Given the description of an element on the screen output the (x, y) to click on. 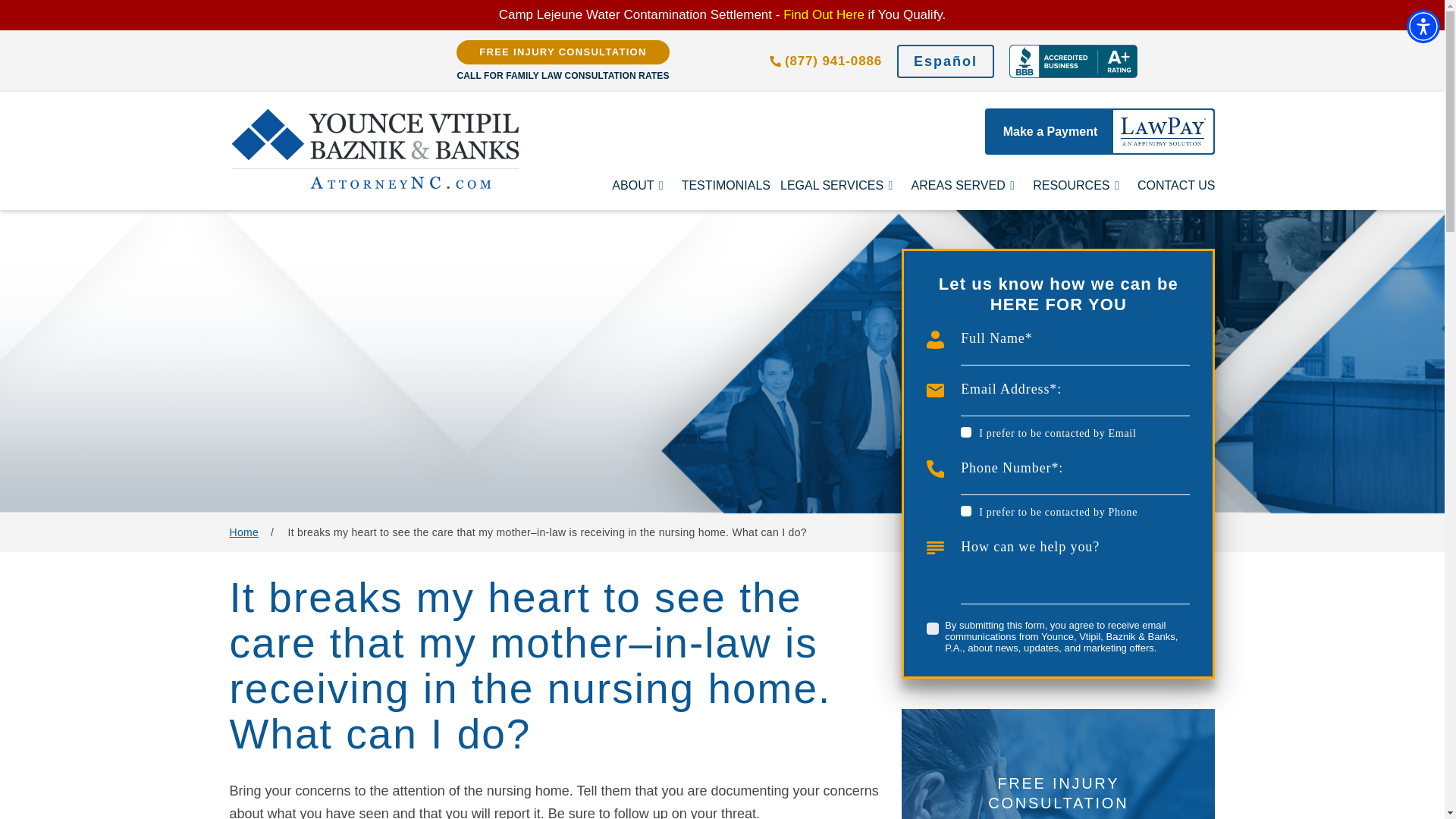
Find Out Here (823, 14)
ABOUT (641, 185)
Accessibility Menu (1422, 26)
About (641, 185)
FREE INJURY CONSULTATION (562, 52)
Make a Payment (1099, 131)
Legal Services (840, 185)
LEGAL SERVICES (840, 185)
email (965, 431)
AREAS SERVED (967, 185)
